Given the description of an element on the screen output the (x, y) to click on. 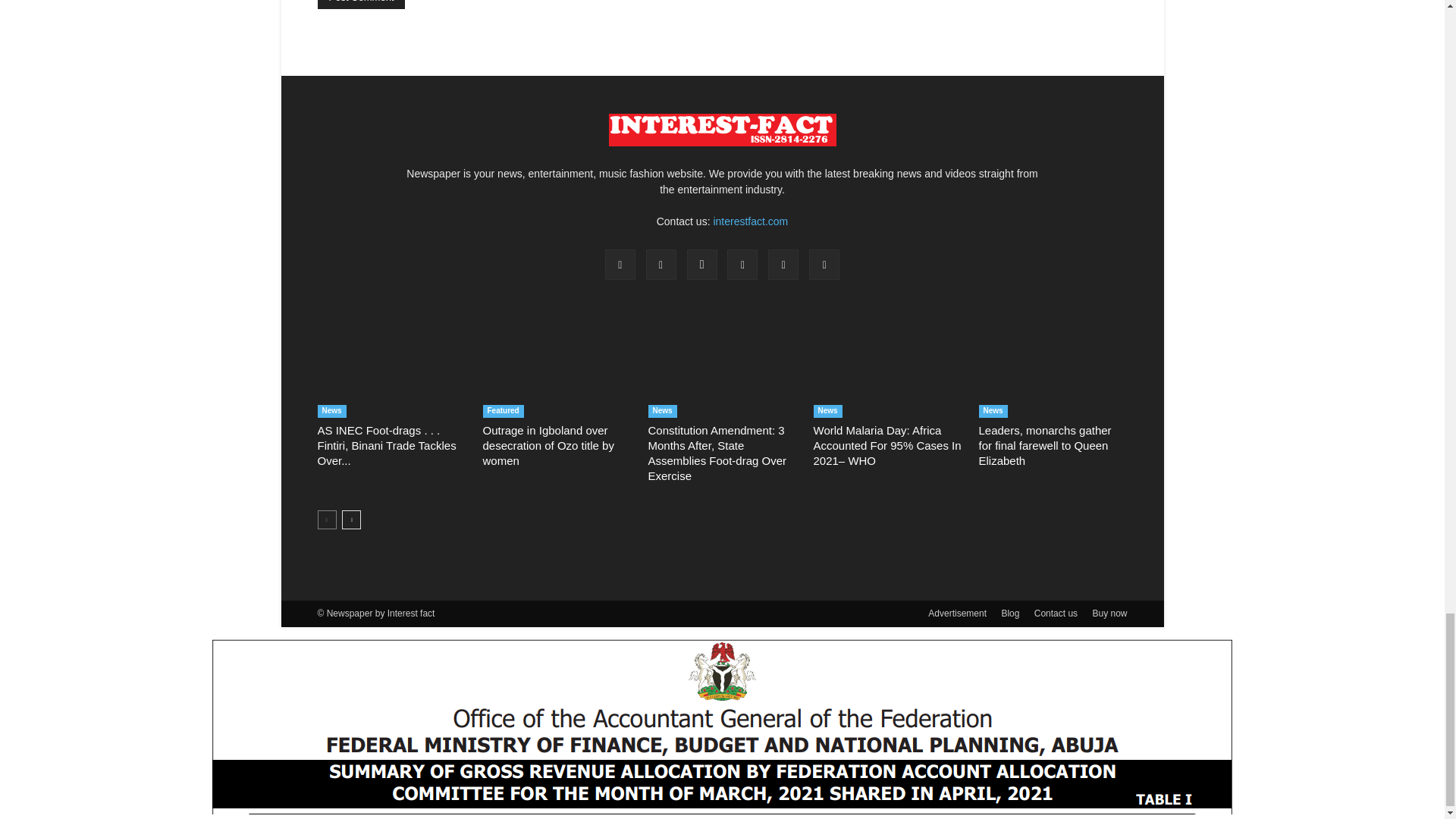
Post Comment (360, 4)
